Given the description of an element on the screen output the (x, y) to click on. 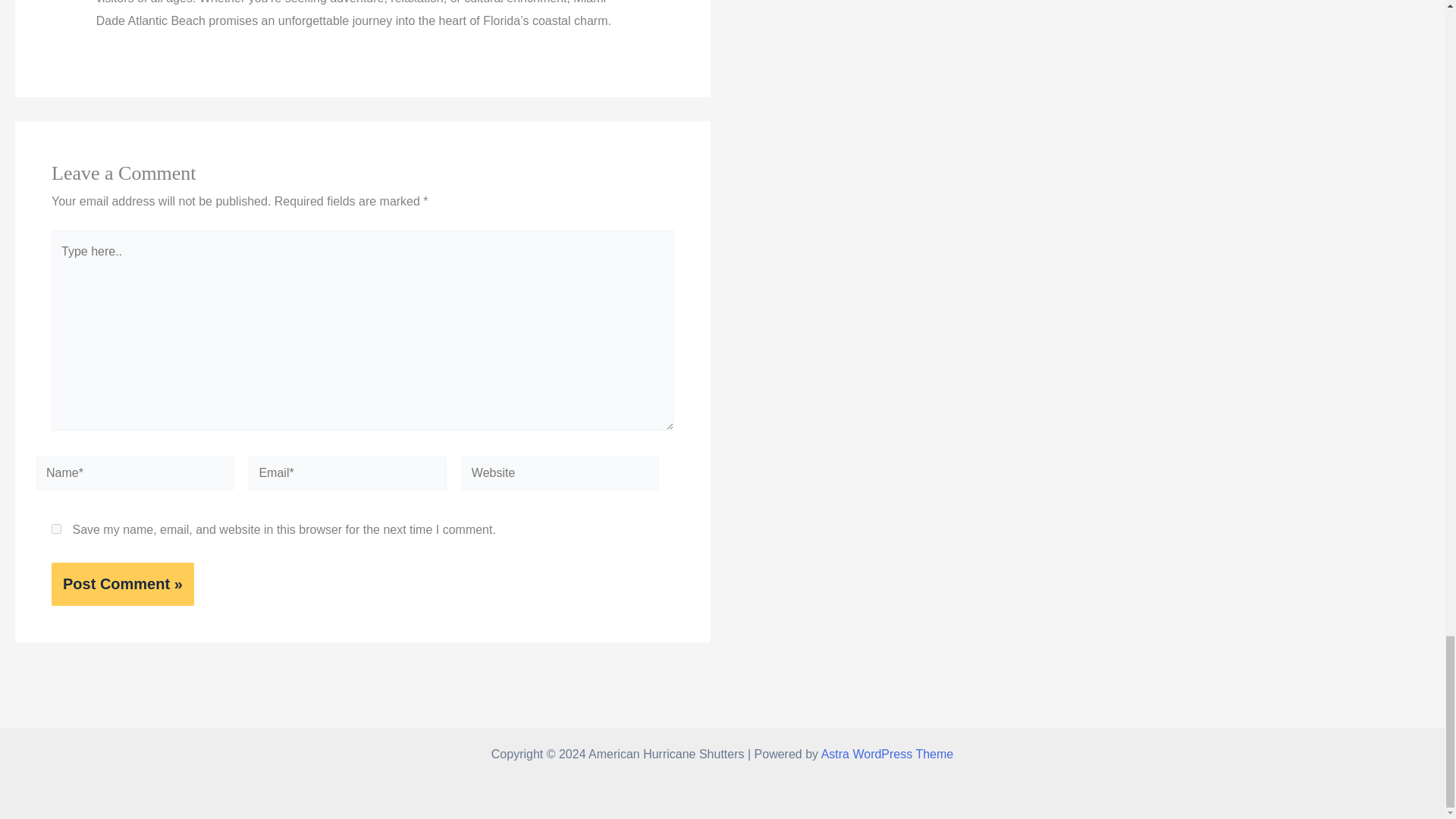
yes (55, 528)
